Given the description of an element on the screen output the (x, y) to click on. 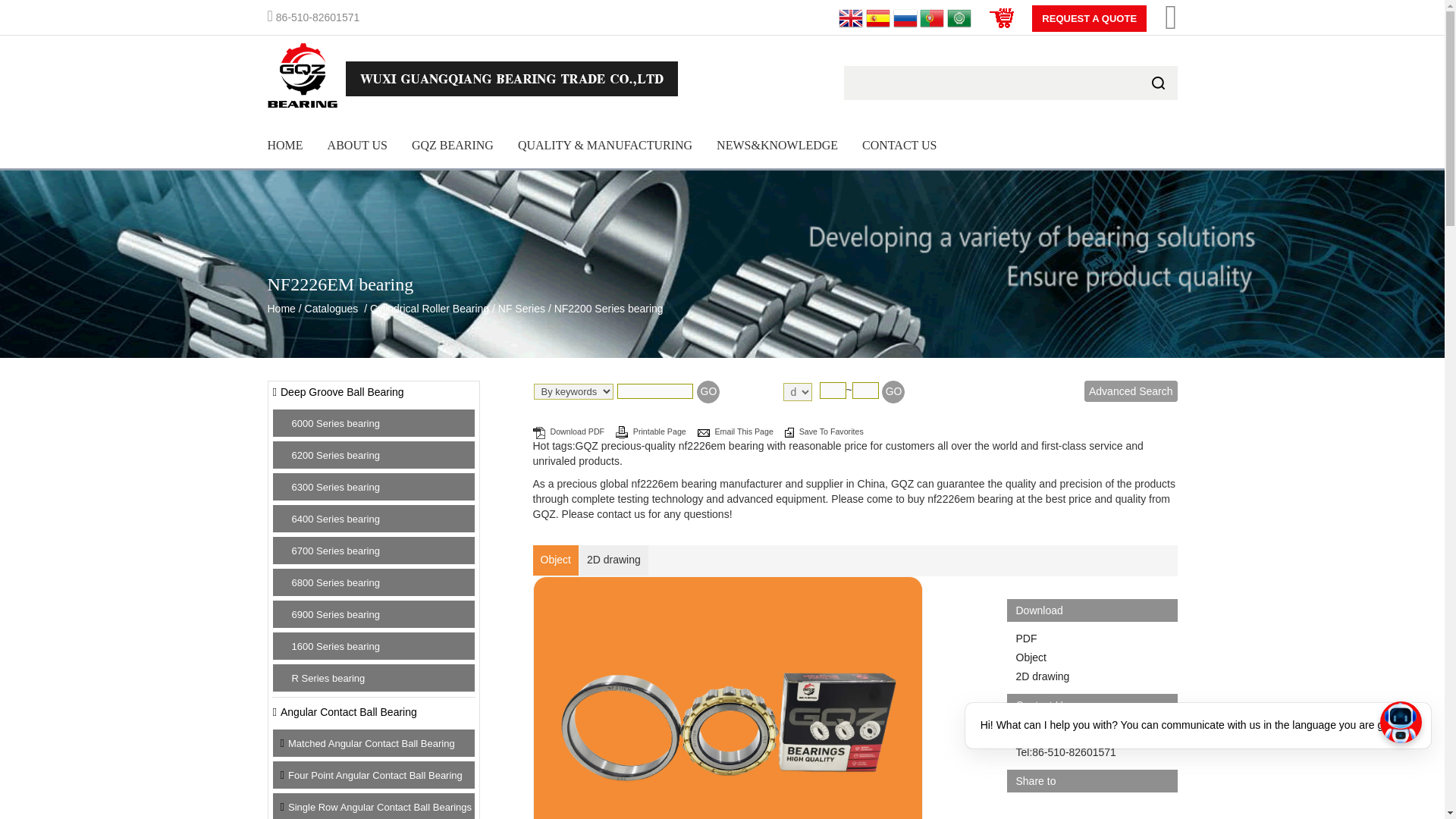
Deep Groove Ball Bearing (342, 391)
Angular Contact Ball Bearing (348, 711)
6800 Series bearing (334, 582)
ABOUT US (356, 145)
CONTACT US (899, 145)
Catalogues (331, 308)
6900 Series bearing (334, 614)
Russian (905, 17)
6000 Series (334, 423)
6400 Series bearing (334, 518)
NF Series (520, 308)
Spanish (877, 17)
Deep Groove Ball Bearing (342, 391)
Matched Angular Contact Ball Bearing (371, 743)
Portuguese (931, 17)
